Given the description of an element on the screen output the (x, y) to click on. 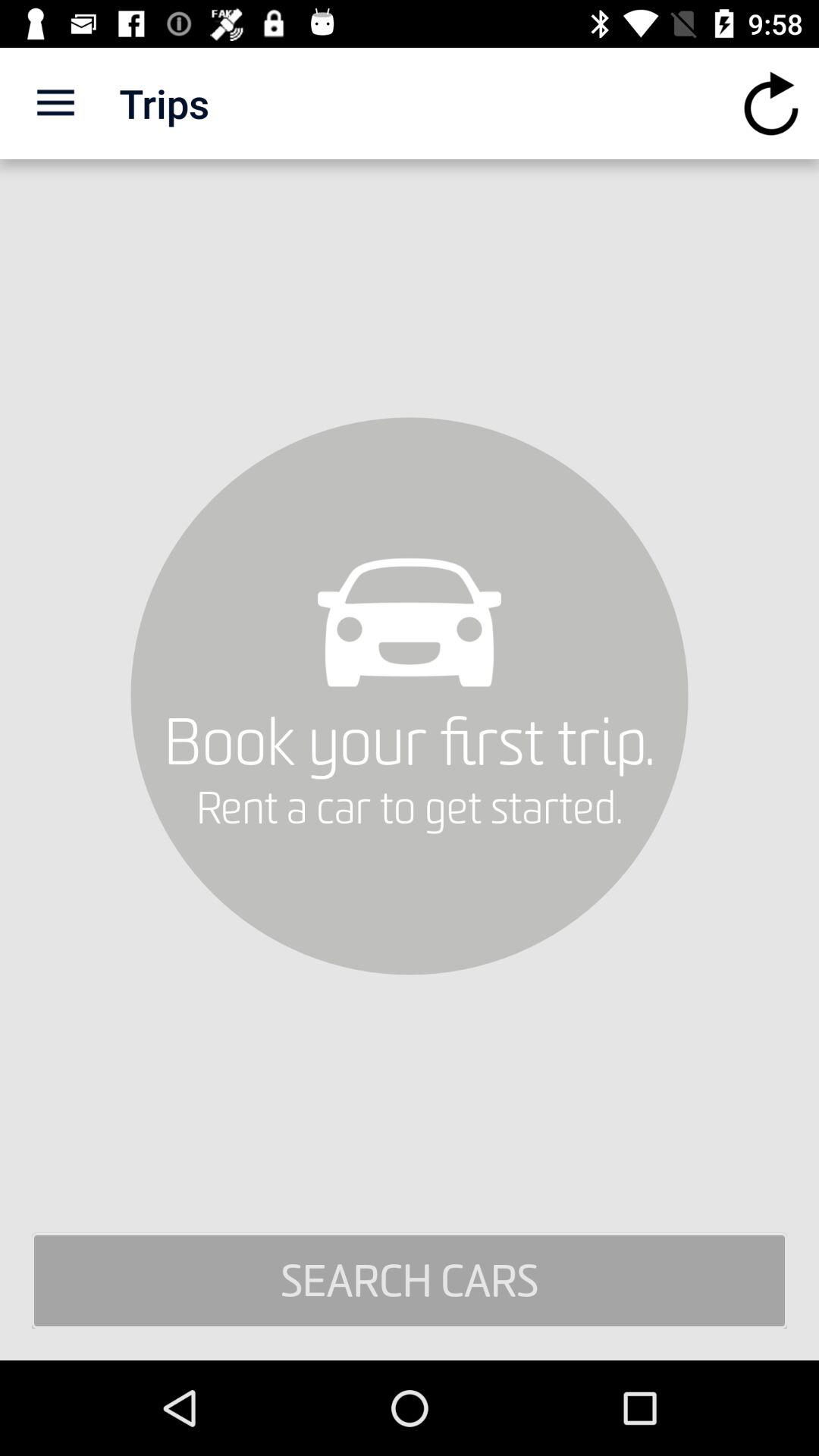
open the item above the search cars icon (771, 103)
